Given the description of an element on the screen output the (x, y) to click on. 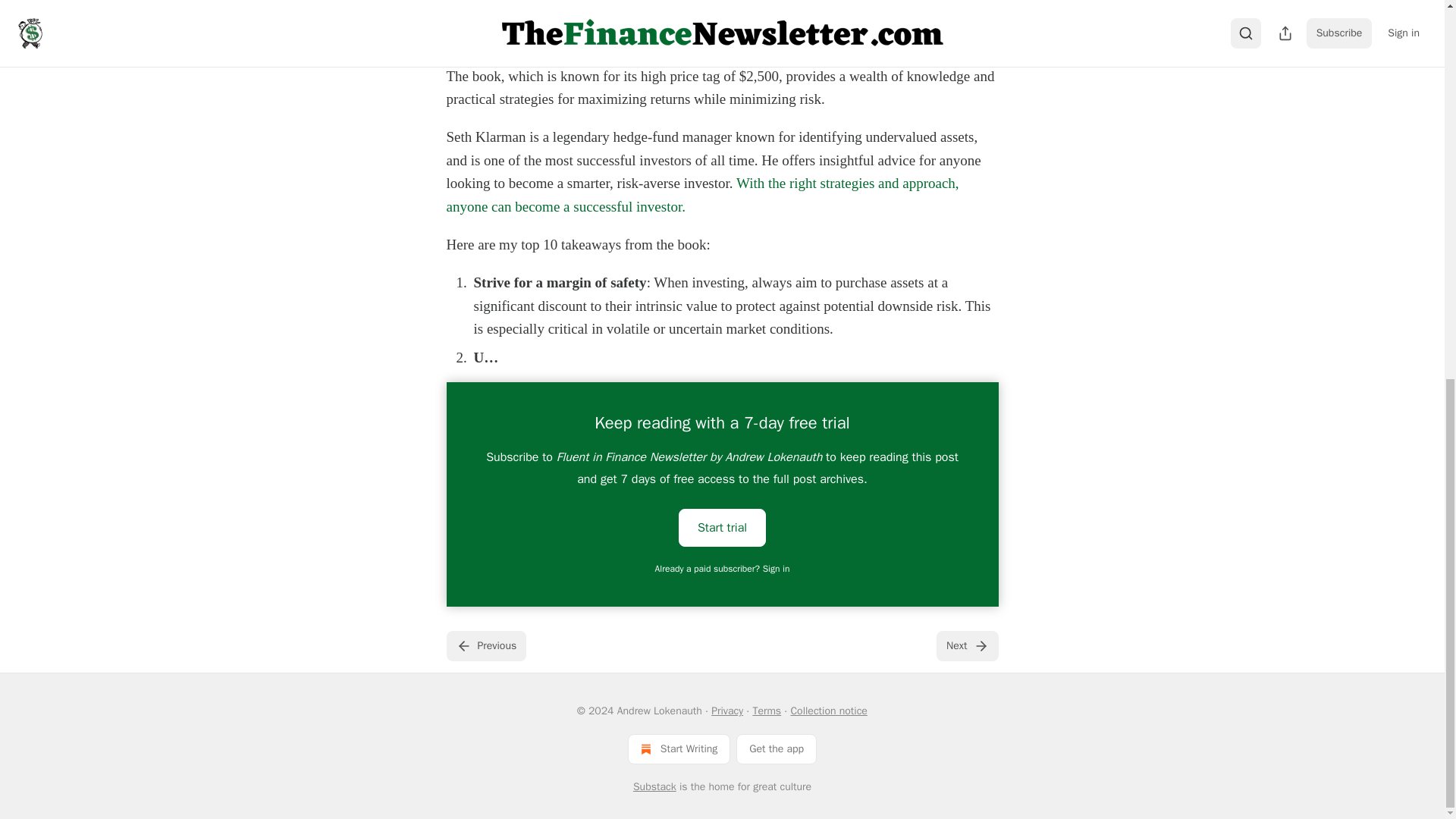
Terms (766, 710)
Already a paid subscriber? Sign in (722, 568)
Substack (655, 786)
Start trial (721, 527)
Start Writing (678, 748)
Previous (485, 645)
Privacy (726, 710)
Get the app (776, 748)
Next (966, 645)
Start trial (721, 526)
Collection notice (828, 710)
